Given the description of an element on the screen output the (x, y) to click on. 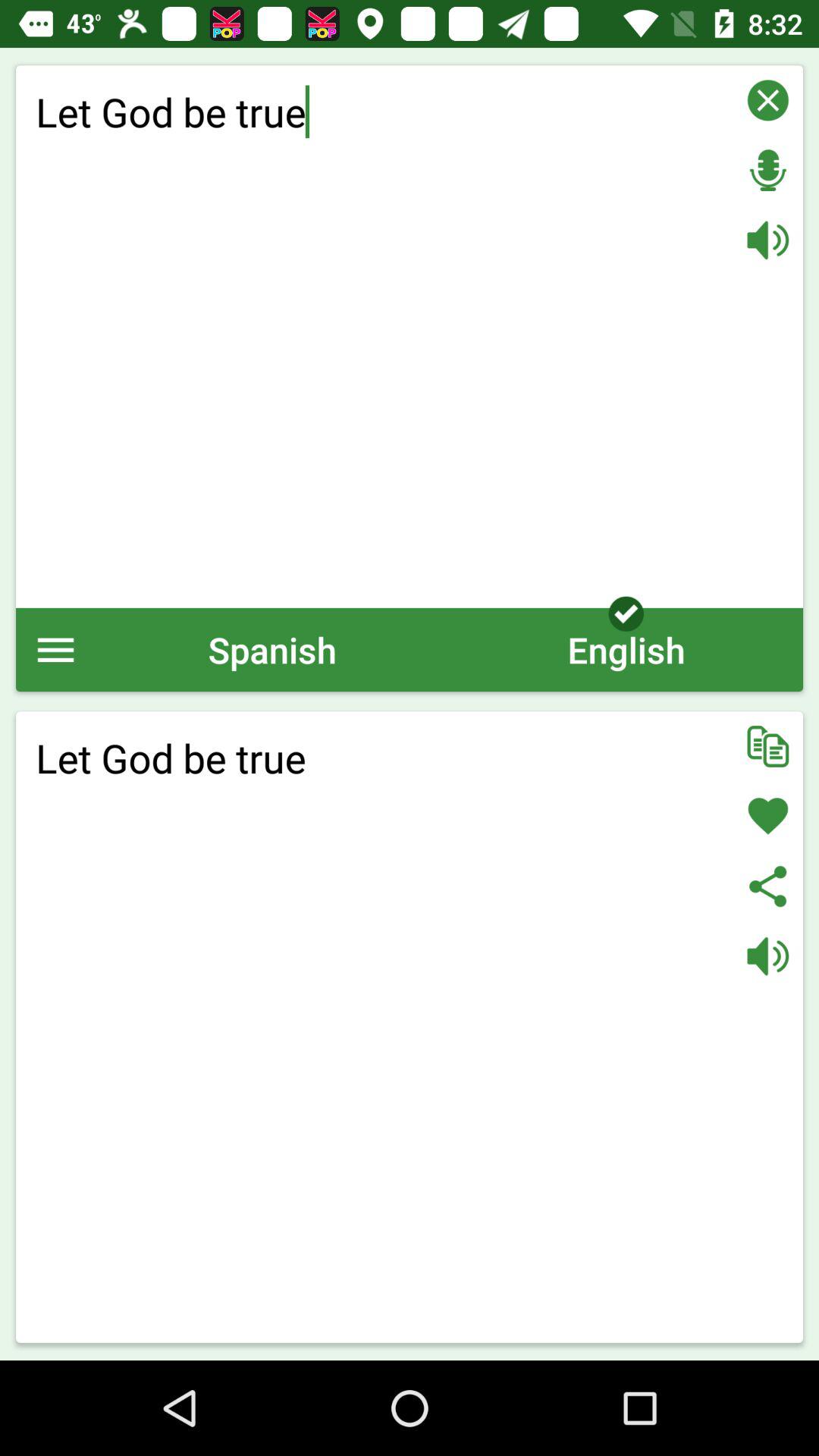
set volume (768, 240)
